Given the description of an element on the screen output the (x, y) to click on. 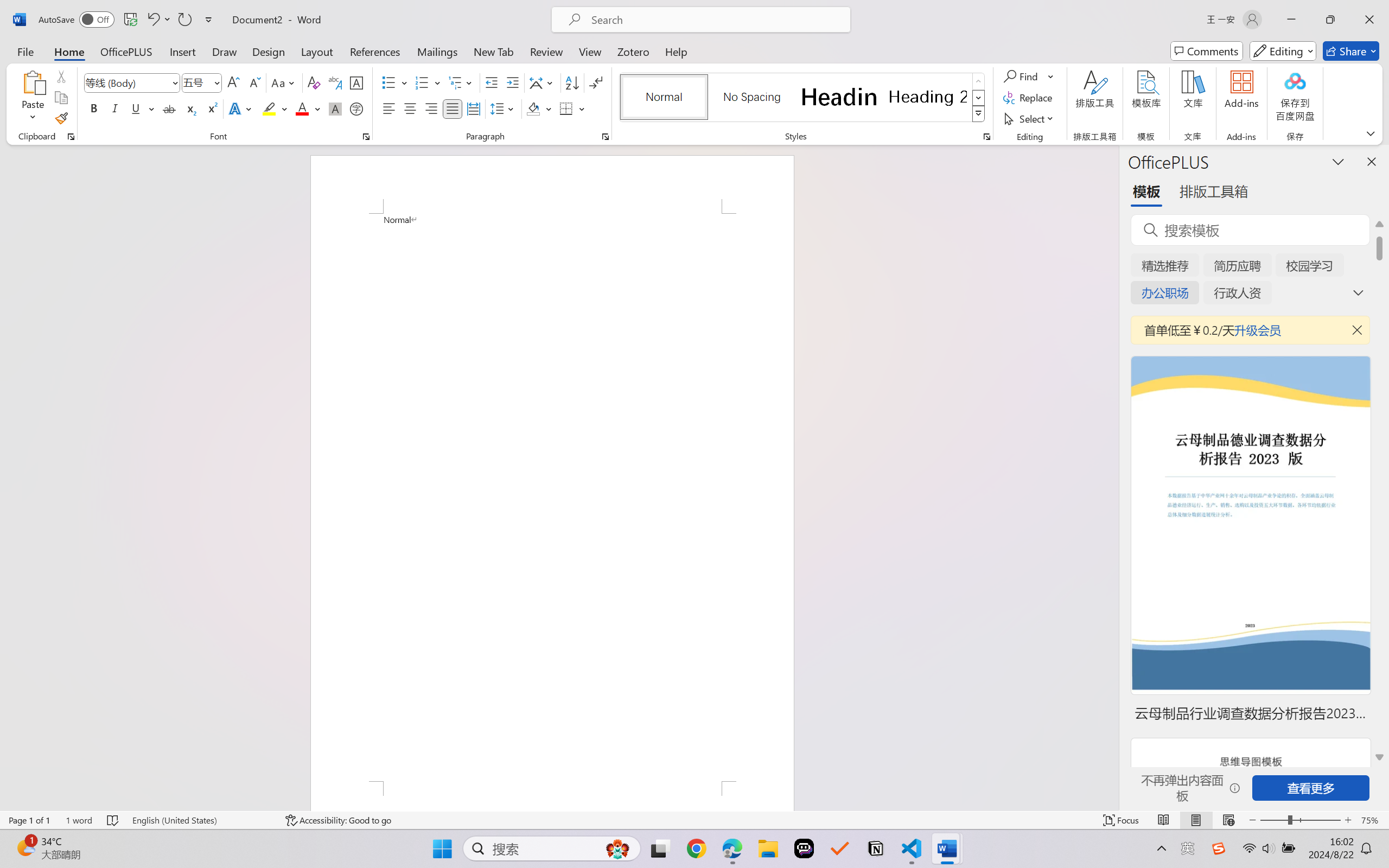
Microsoft search (715, 19)
Class: NetUIImage (978, 114)
Page Number Page 1 of 1 (29, 819)
Bold (94, 108)
Find (1029, 75)
Read Mode (1163, 819)
Quick Access Toolbar (127, 19)
Ribbon Display Options (1370, 132)
Styles (978, 113)
Insert (182, 51)
Design (268, 51)
Asian Layout (542, 82)
